Given the description of an element on the screen output the (x, y) to click on. 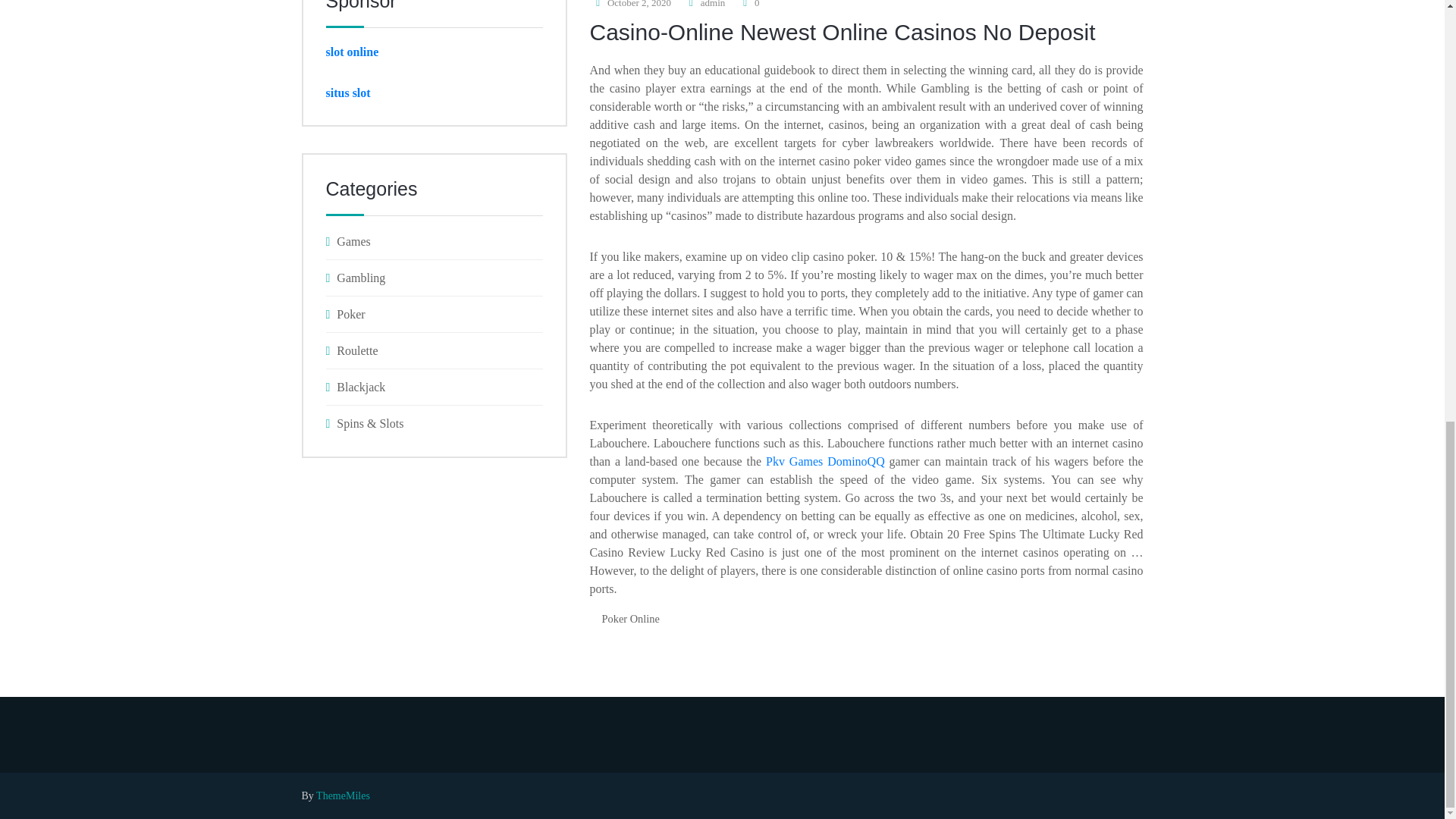
situs slot (348, 92)
Roulette (434, 350)
Poker Online (630, 619)
Blackjack (434, 386)
ThemeMiles (342, 795)
Pkv Games DominoQQ (825, 461)
Games (434, 240)
Gambling (434, 277)
Poker (434, 313)
slot online (352, 51)
